Given the description of an element on the screen output the (x, y) to click on. 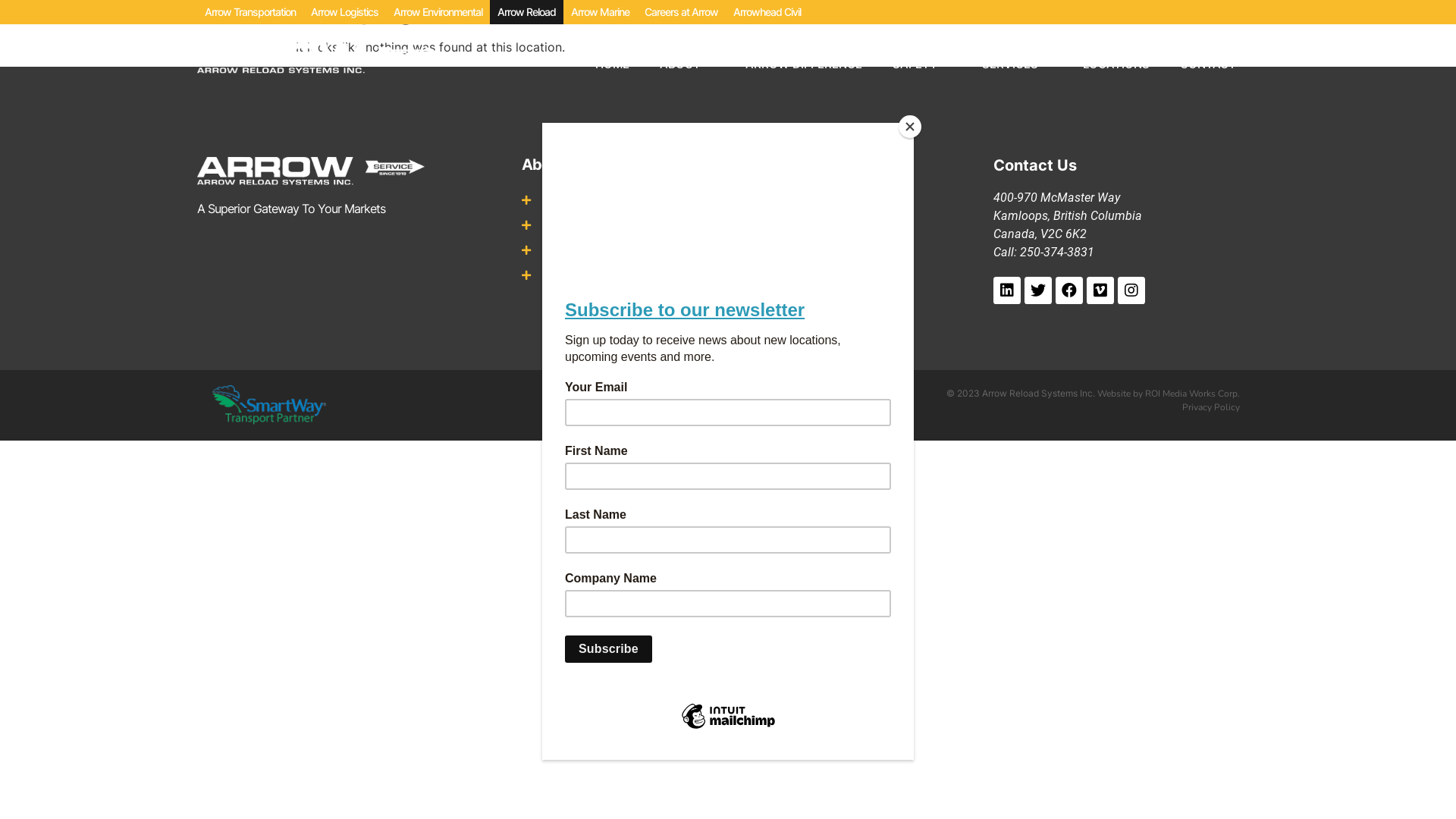
The Arrow Difference Element type: text (623, 199)
What We Move Element type: text (859, 225)
CONTACT Element type: text (1207, 64)
HOME Element type: text (612, 64)
Arrow Reload Element type: text (526, 11)
Mission & Values Element type: text (623, 224)
ARROW DIFFERENCE Element type: text (803, 64)
SERVICES Element type: text (1016, 64)
Arrow Marine Element type: text (600, 11)
Careers at Arrow Element type: text (681, 11)
SAFETY Element type: text (921, 64)
What We Do Element type: text (859, 200)
Website by ROI Media Works Corp. Element type: text (1168, 393)
Arrowhead Civil Element type: text (766, 11)
Arrow Logistics Element type: text (344, 11)
Newsletter Signup Element type: text (623, 274)
Arrow Transportation Element type: text (249, 11)
ABOUT Element type: text (687, 64)
Arrow Environmental Element type: text (437, 11)
Privacy Policy Element type: text (1210, 407)
LOCATIONS Element type: text (1115, 64)
Careers Element type: text (623, 249)
